Given the description of an element on the screen output the (x, y) to click on. 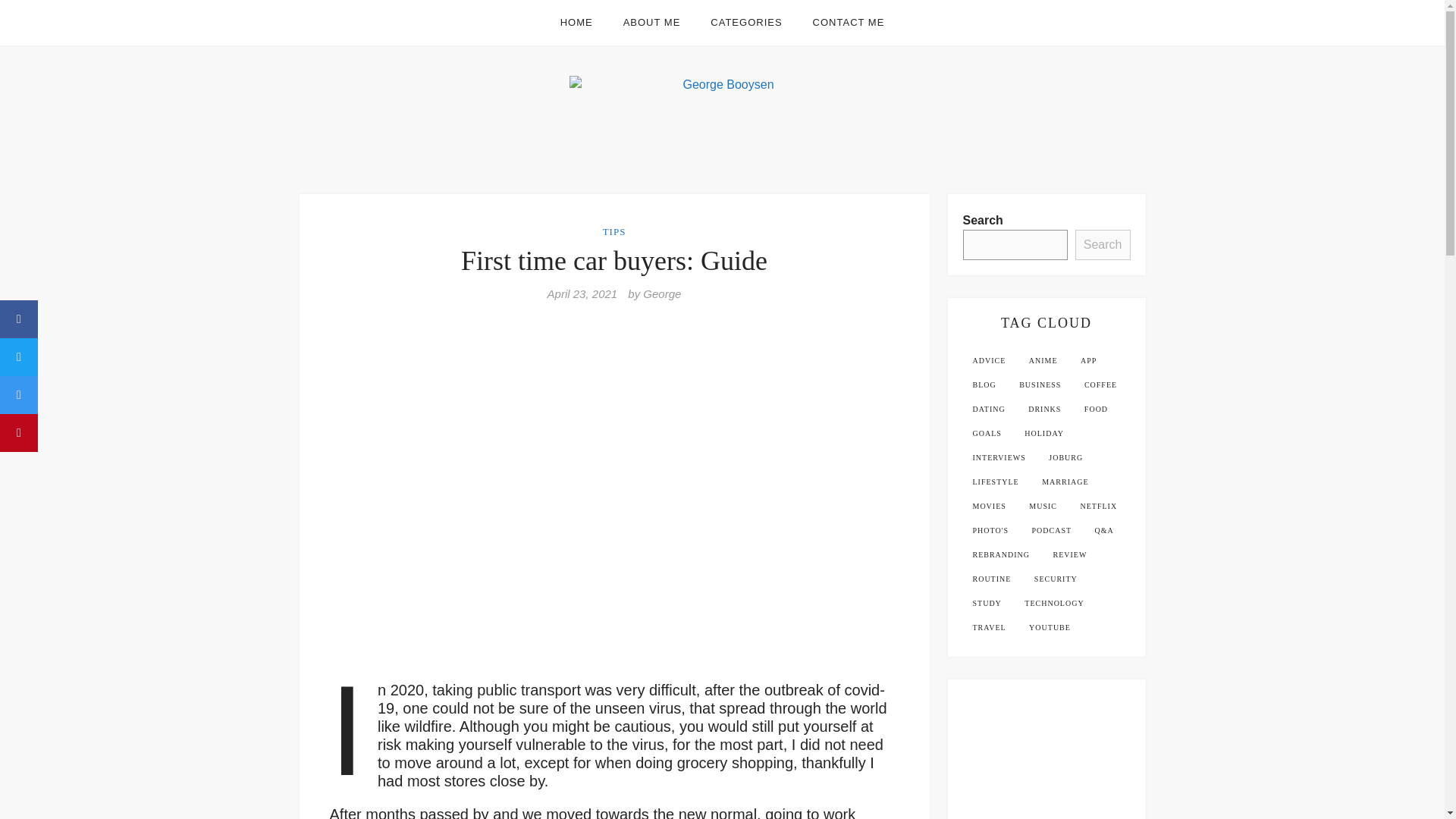
CATEGORIES (745, 22)
ADVICE (988, 361)
ABOUT ME (652, 22)
TIPS (614, 231)
Search (1103, 245)
April 23, 2021 (582, 293)
ANIME (1042, 361)
George (662, 293)
APP (1088, 361)
CONTACT ME (848, 22)
